Given the description of an element on the screen output the (x, y) to click on. 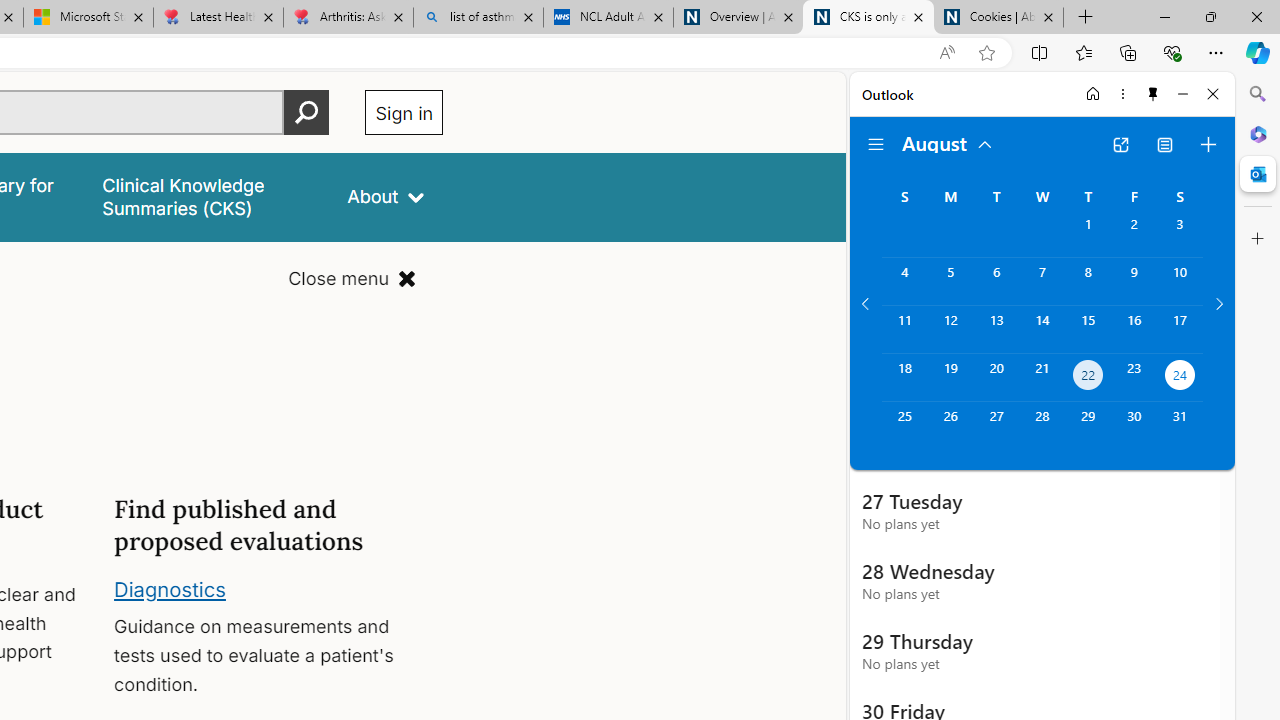
Friday, August 23, 2024.  (1134, 377)
Thursday, August 1, 2024.  (1088, 233)
Saturday, August 10, 2024.  (1180, 281)
Tuesday, August 20, 2024.  (996, 377)
Monday, August 12, 2024.  (950, 329)
Sunday, August 11, 2024.  (904, 329)
Folder navigation (876, 144)
